Given the description of an element on the screen output the (x, y) to click on. 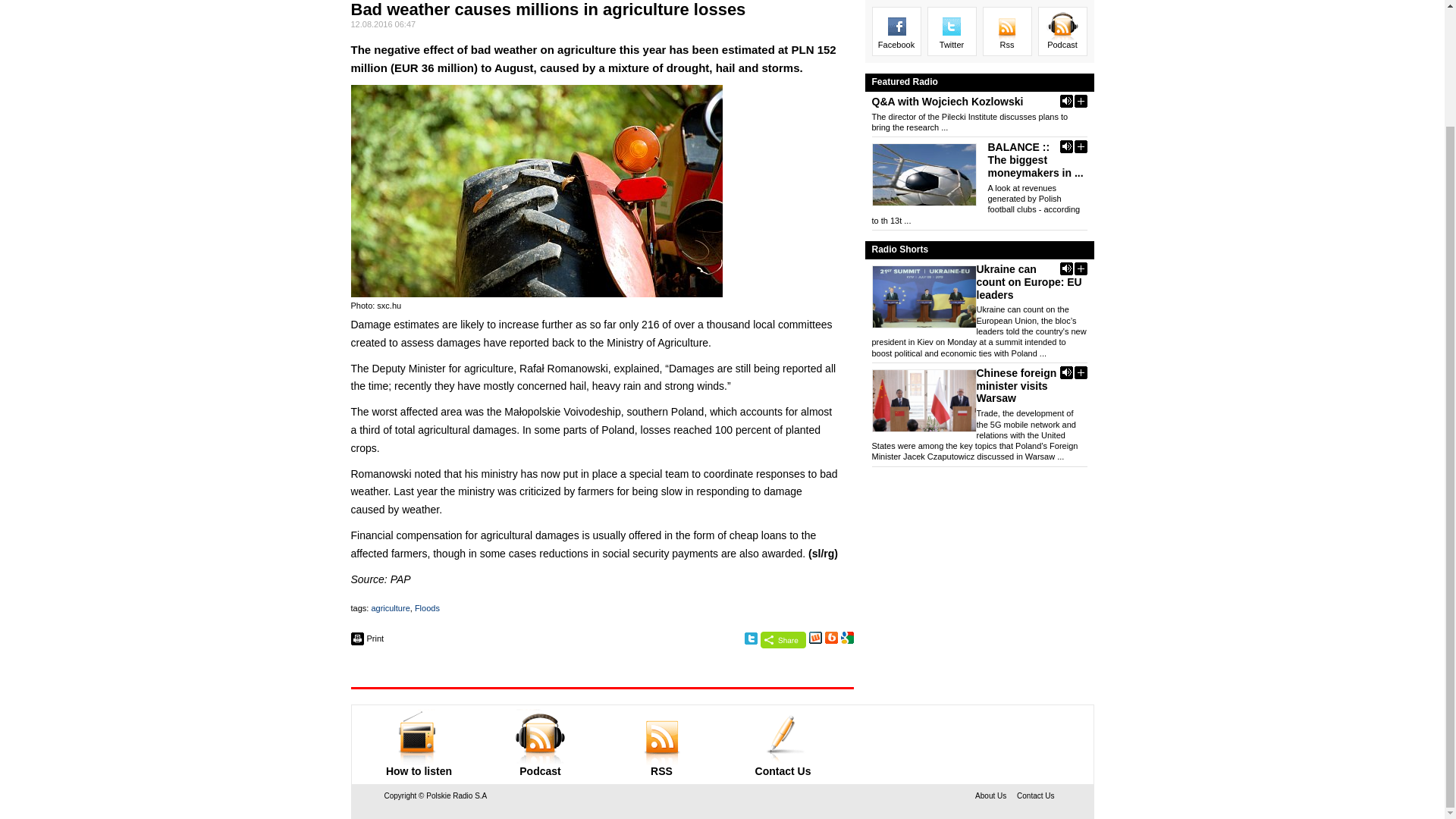
Wykop (814, 637)
Twitter (750, 638)
Blip (831, 637)
Photo: sxc.hu (536, 191)
Print (367, 638)
agriculture (390, 607)
Floods (426, 607)
drukuj (367, 638)
